Given the description of an element on the screen output the (x, y) to click on. 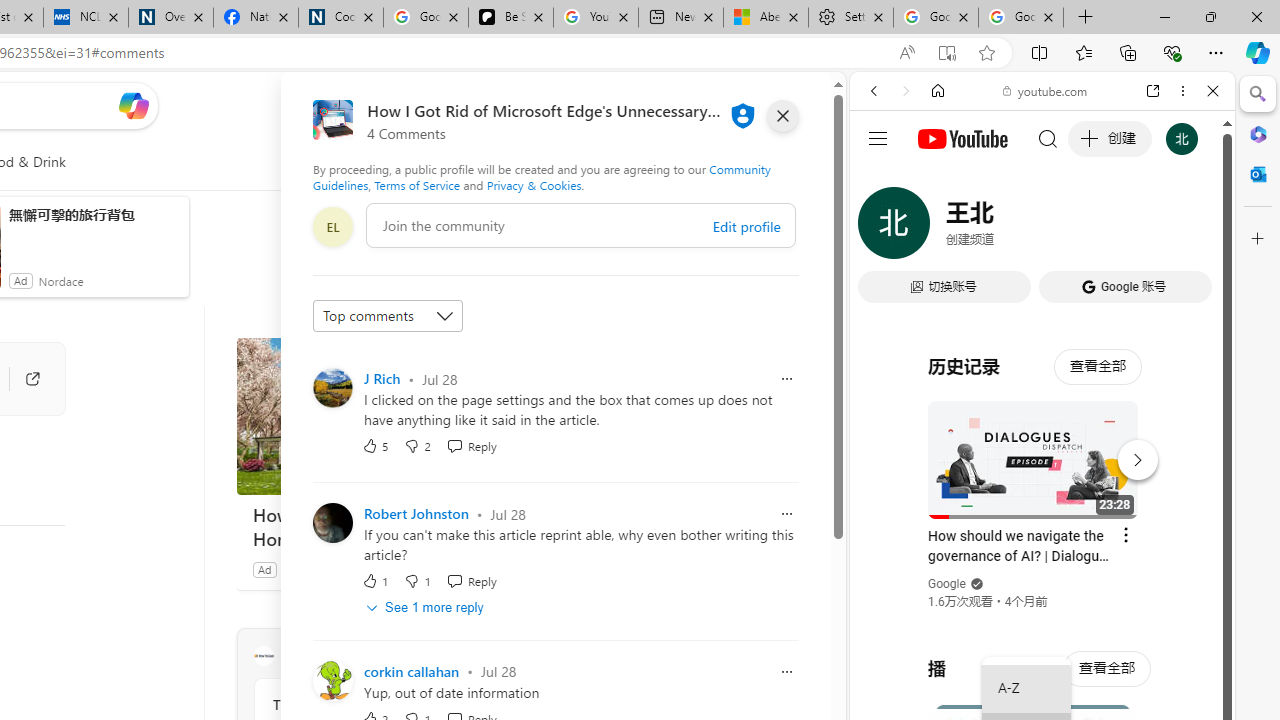
VIDEOS (1006, 228)
Open settings (786, 105)
SEARCH TOOLS (1093, 228)
Enter Immersive Reader (F9) (946, 53)
Show More Music (1164, 546)
LendingTree (313, 569)
Search the web (1051, 137)
corkin callahan (411, 670)
